Given the description of an element on the screen output the (x, y) to click on. 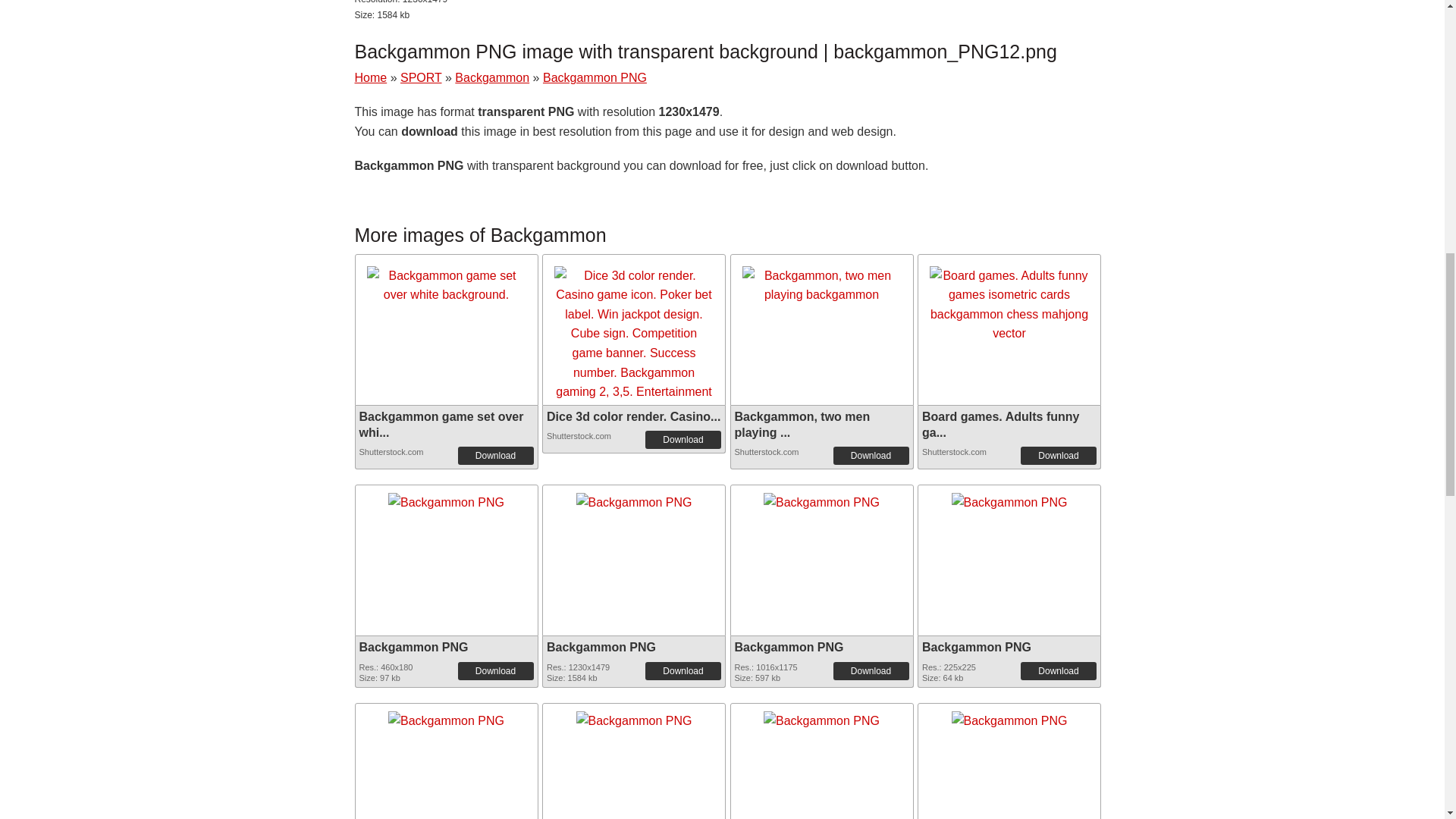
Backgammon PNG (975, 646)
Backgammon PNG (601, 646)
Backgammon, two men playing ... (801, 424)
Backgammon PNG (788, 646)
Backgammon game set over white background. (445, 285)
Backgammon PNG (445, 497)
Backgammon PNG (1009, 497)
Download (682, 669)
Download (870, 669)
Home (371, 77)
Download (496, 455)
Backgammon PNG (634, 498)
Backgammon PNG (445, 498)
Backgammon PNG (445, 716)
